Given the description of an element on the screen output the (x, y) to click on. 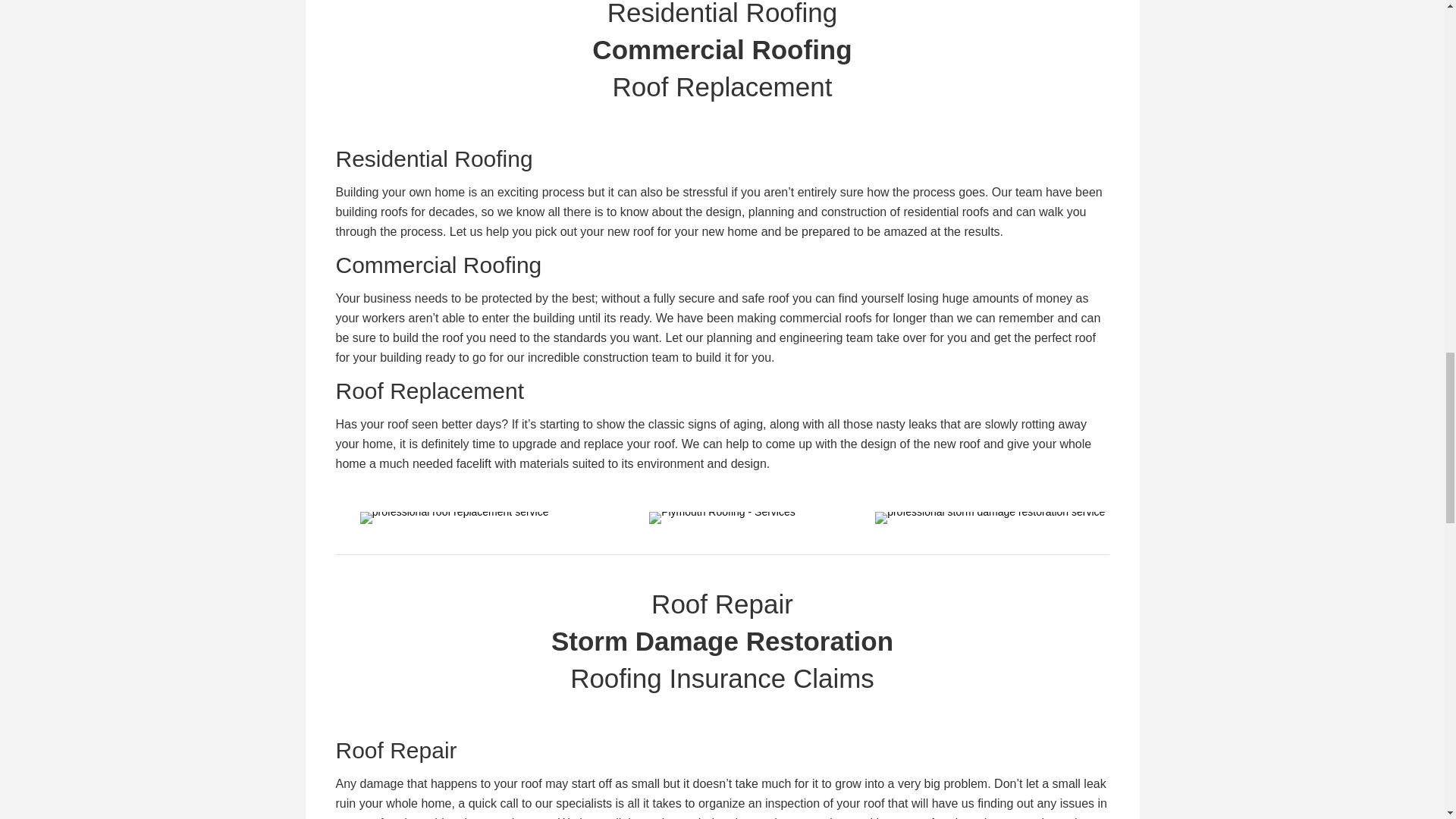
Plymouth Roofing - Storm Damage Restoration 2 (990, 517)
Plymouth Roofing - Services (721, 517)
Plymouth Roofing - Roof Replacement 2 (453, 517)
